Given the description of an element on the screen output the (x, y) to click on. 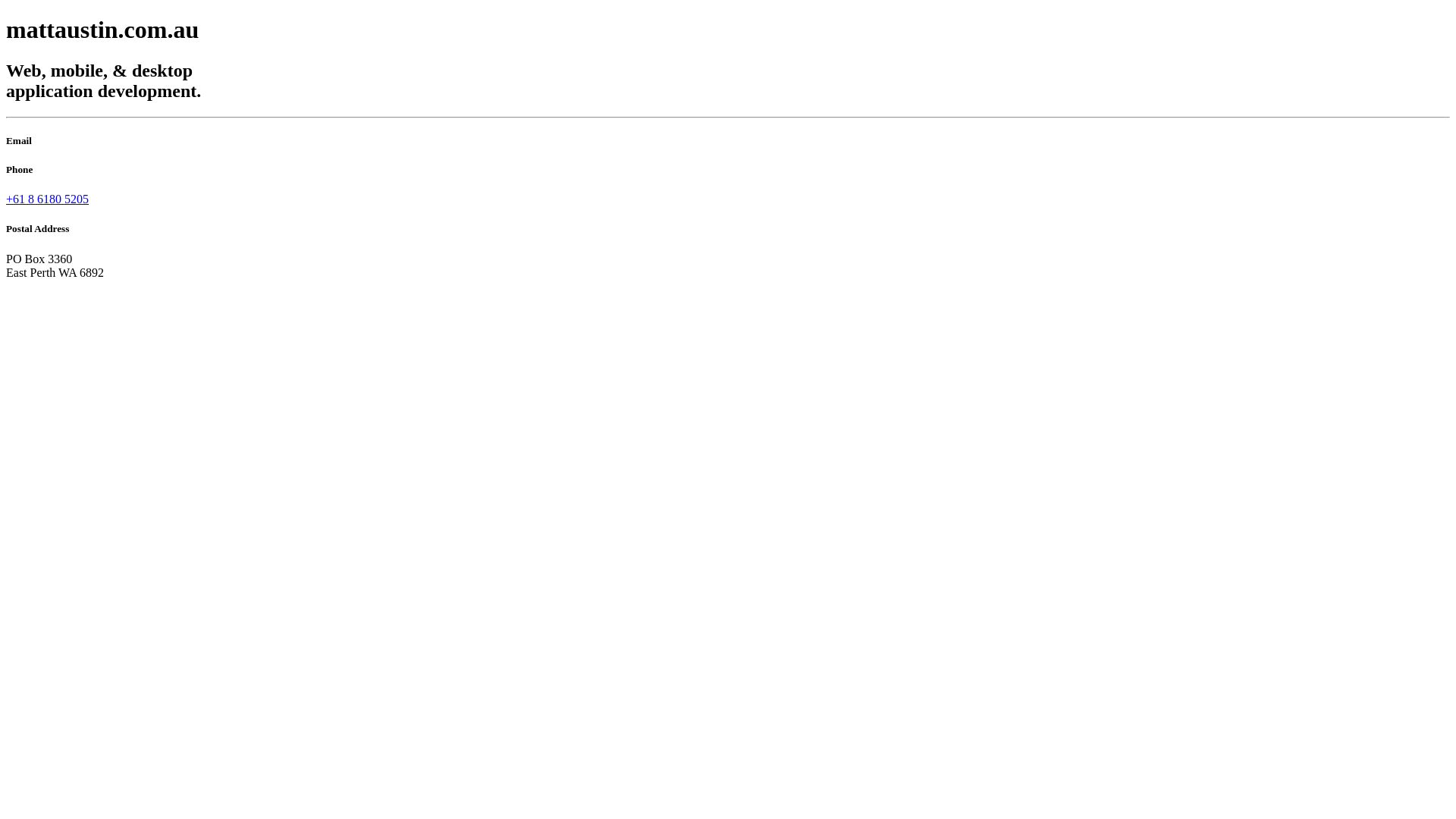
+61 8 6180 5205 Element type: text (47, 198)
